Given the description of an element on the screen output the (x, y) to click on. 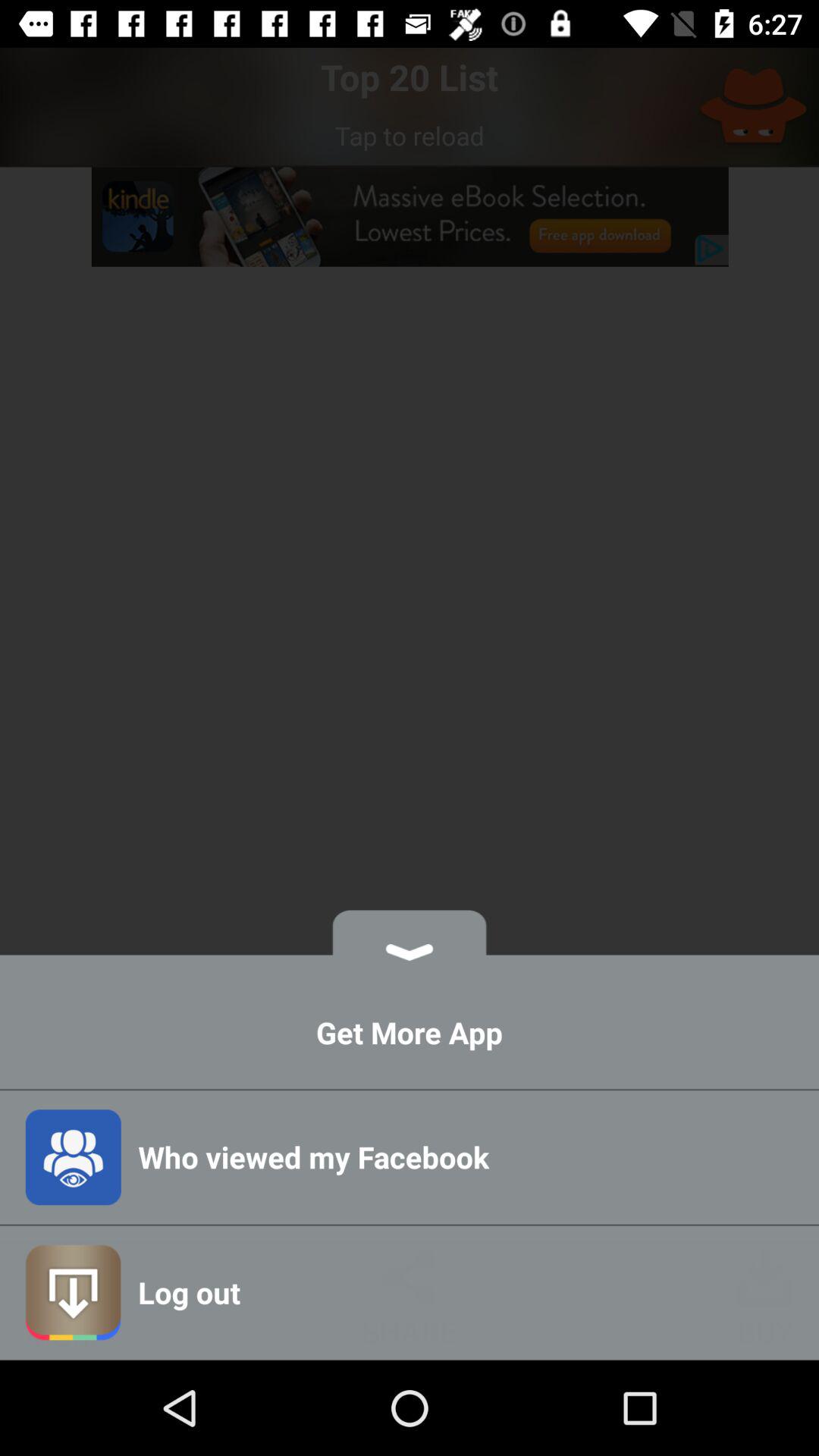
launch icon below the tap to reload item (409, 216)
